Given the description of an element on the screen output the (x, y) to click on. 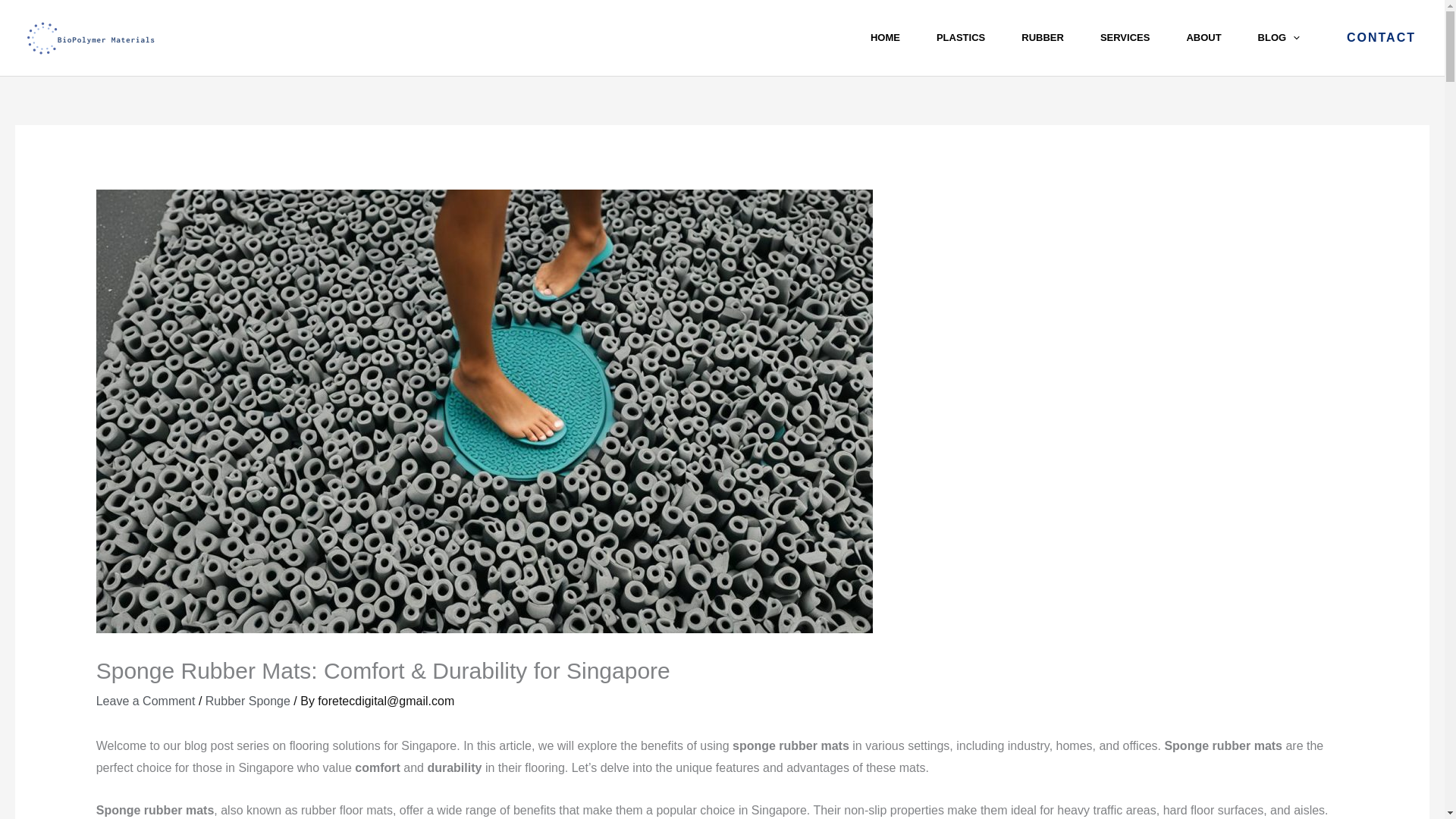
PLASTICS (960, 37)
HOME (884, 37)
Leave a Comment (145, 700)
Rubber Sponge (247, 700)
RUBBER (1042, 37)
CONTACT (1381, 37)
ABOUT (1203, 37)
BLOG (1278, 37)
SERVICES (1125, 37)
